Given the description of an element on the screen output the (x, y) to click on. 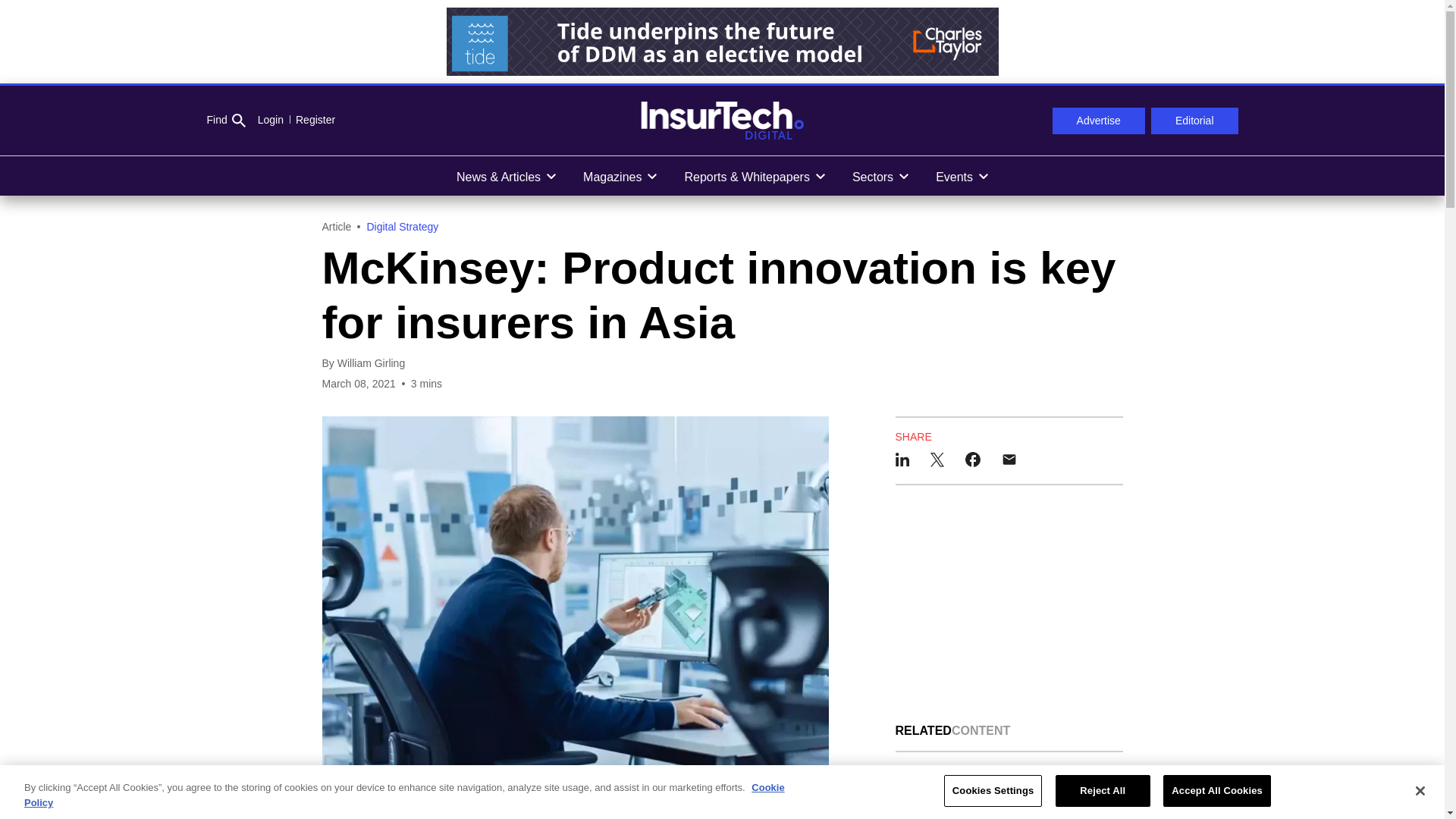
Login (270, 120)
Advertise (1098, 121)
3rd party ad content (721, 41)
3rd party ad content (1008, 604)
Sectors (879, 175)
Magazines (619, 175)
Find (225, 120)
Editorial (1195, 121)
Register (308, 120)
Events (961, 175)
